Given the description of an element on the screen output the (x, y) to click on. 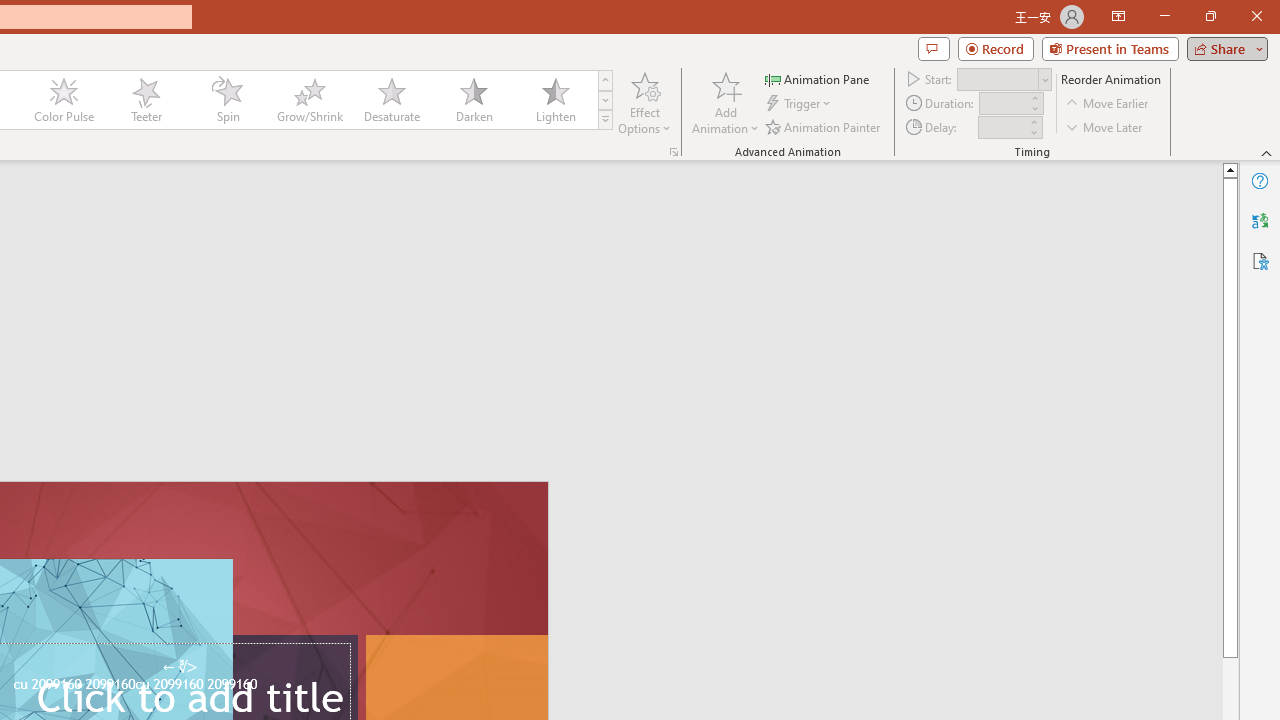
Add Animation (725, 102)
Animation Styles (605, 120)
Color Pulse (63, 100)
Less (1033, 132)
TextBox 61 (186, 686)
Teeter (145, 100)
